Given the description of an element on the screen output the (x, y) to click on. 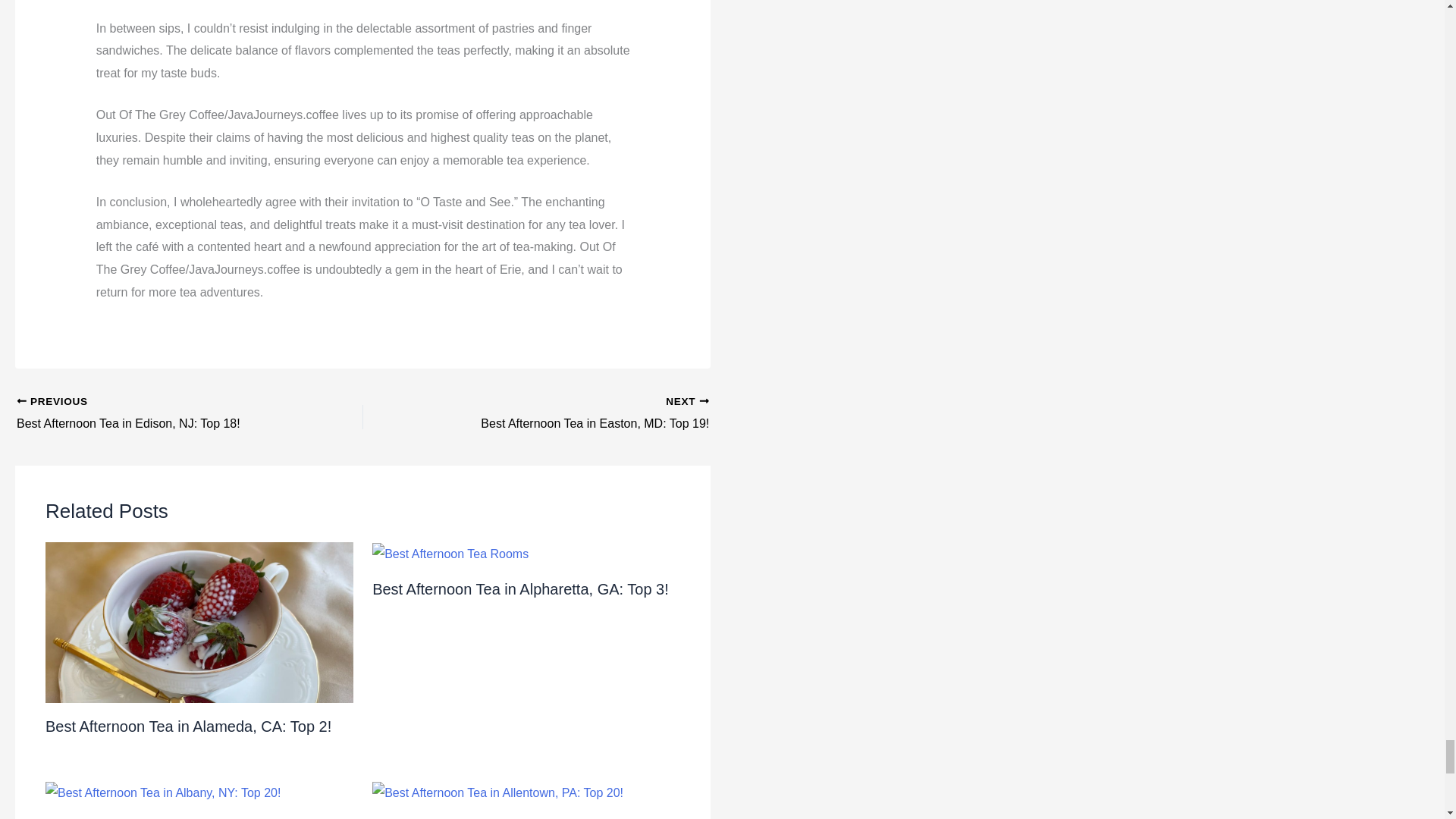
Best Afternoon Tea in Easton, MD: Top 19! (569, 413)
Best Afternoon Tea in Edison, NJ: Top 18! (155, 413)
